Given the description of an element on the screen output the (x, y) to click on. 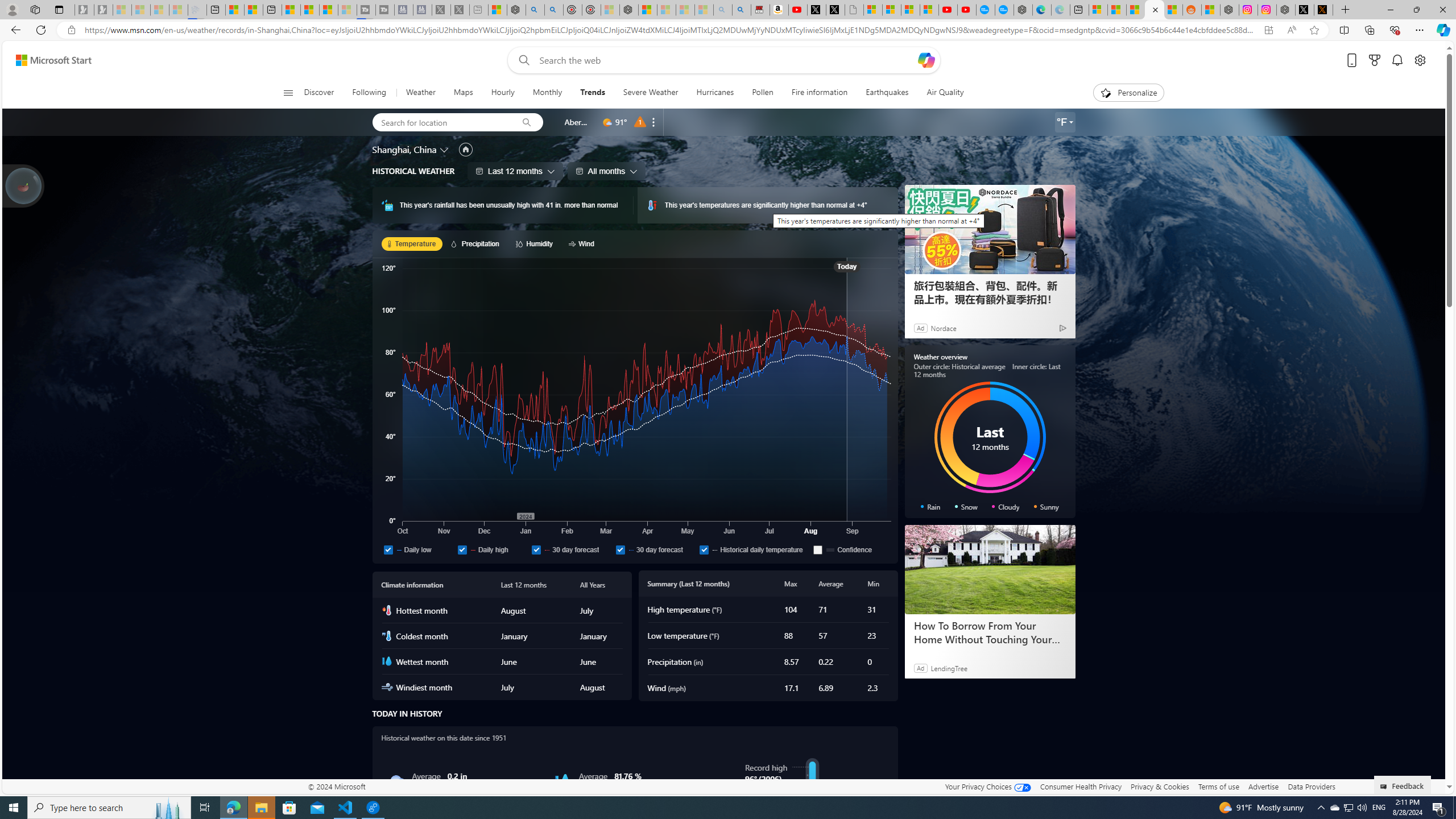
New tab (1079, 9)
Ad (919, 668)
Microsoft Start (53, 60)
Severe Weather (649, 92)
Day 1: Arriving in Yemen (surreal to be here) - YouTube (797, 9)
Untitled (853, 9)
Daily low (387, 549)
Air Quality (944, 92)
Data Providers (1311, 785)
Terms of use (1218, 785)
Pollen (762, 92)
